Given the description of an element on the screen output the (x, y) to click on. 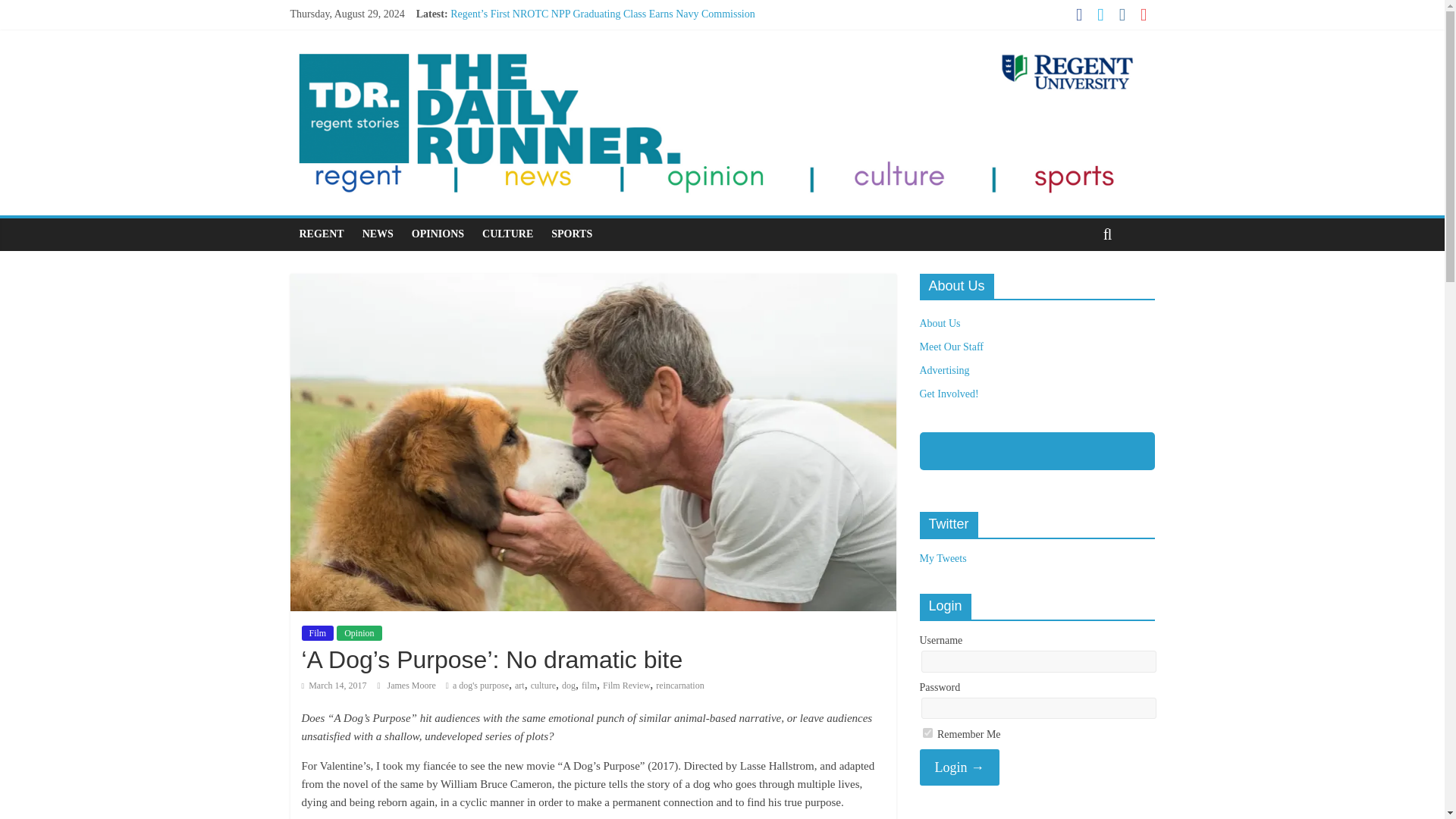
OPINIONS (438, 234)
James Moore (412, 685)
forever (926, 732)
film (588, 685)
dog (568, 685)
March 14, 2017 (333, 685)
a dog's purpose (480, 685)
Understanding Antisemitism: Interview with Brendan Murphy (582, 64)
culture (543, 685)
CULTURE (507, 234)
